Given the description of an element on the screen output the (x, y) to click on. 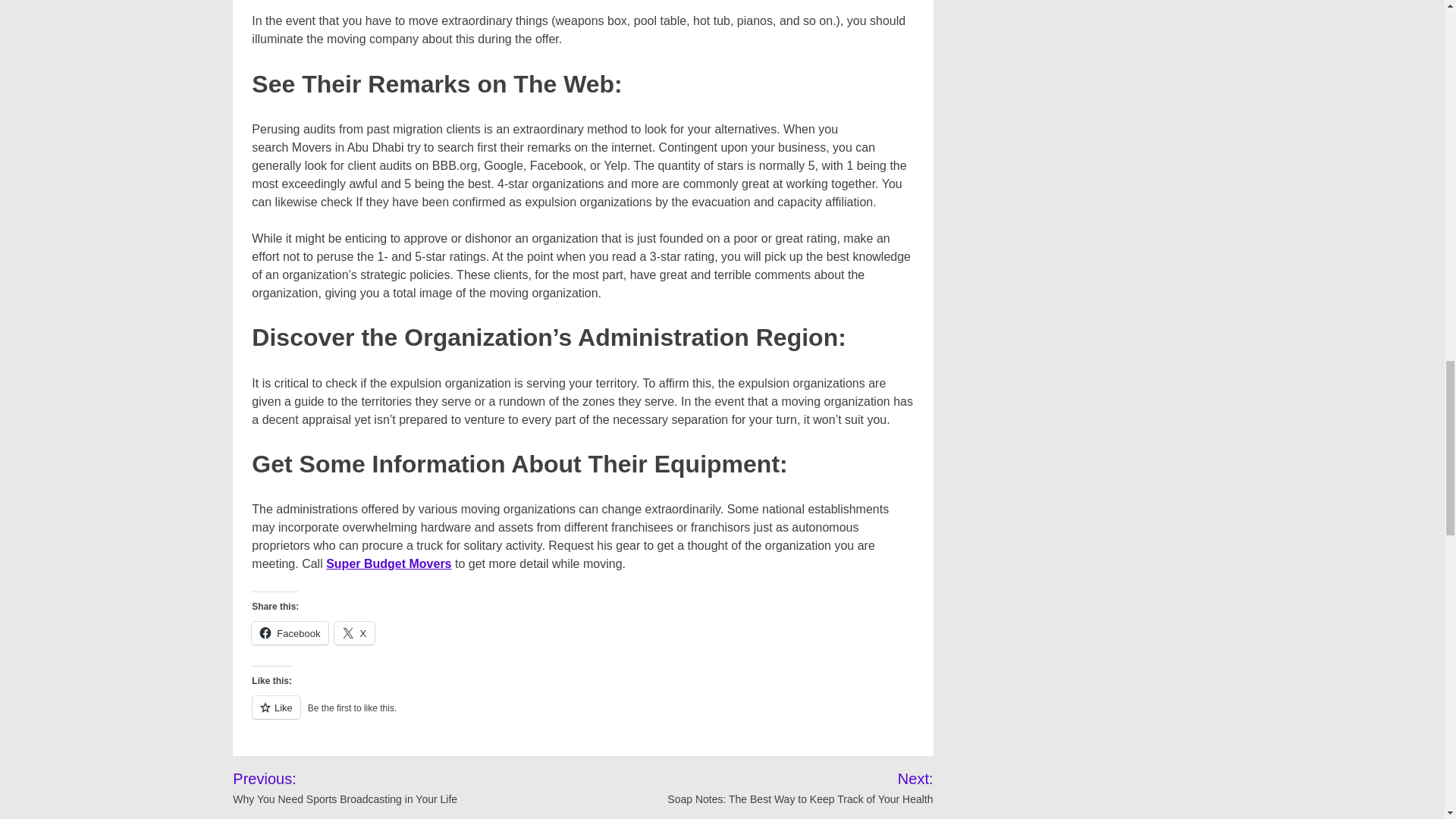
Facebook (290, 632)
X (354, 632)
Next: Soap Notes: The Best Way to Keep Track of Your Health (780, 787)
Super Budget Movers (388, 563)
Click to share on Facebook (290, 632)
Previous: Why You Need Sports Broadcasting in Your Life (378, 787)
Like or Reblog (582, 716)
Click to share on X (354, 632)
